Given the description of an element on the screen output the (x, y) to click on. 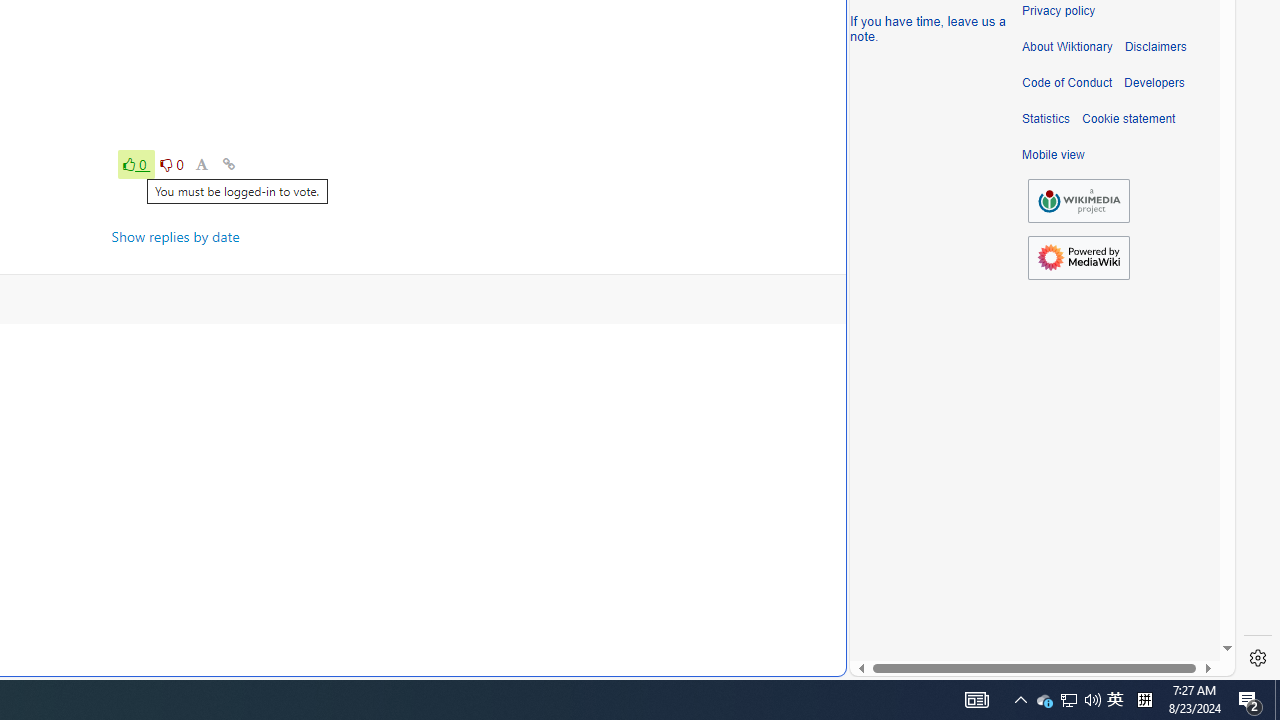
If you have time, leave us a note. (927, 27)
Mobile view (1053, 155)
Privacy policy (1058, 11)
Statistics (1046, 119)
Disclaimers (1154, 47)
Code of Conduct (1067, 83)
Powered by MediaWiki (1078, 257)
Cookie statement (1128, 119)
Show replies by date (175, 236)
